Given the description of an element on the screen output the (x, y) to click on. 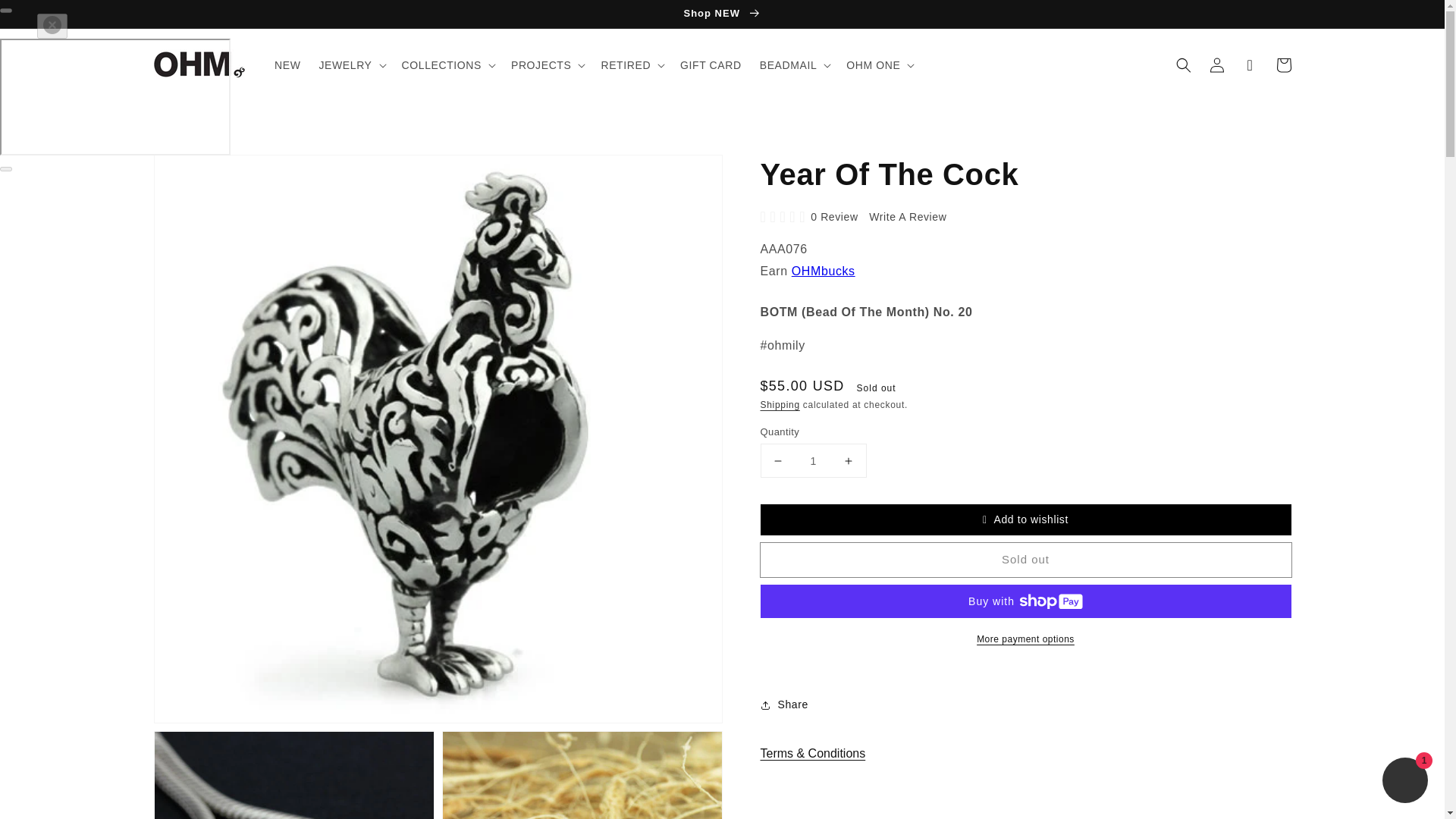
1 (812, 460)
Skip to content (45, 16)
